Given the description of an element on the screen output the (x, y) to click on. 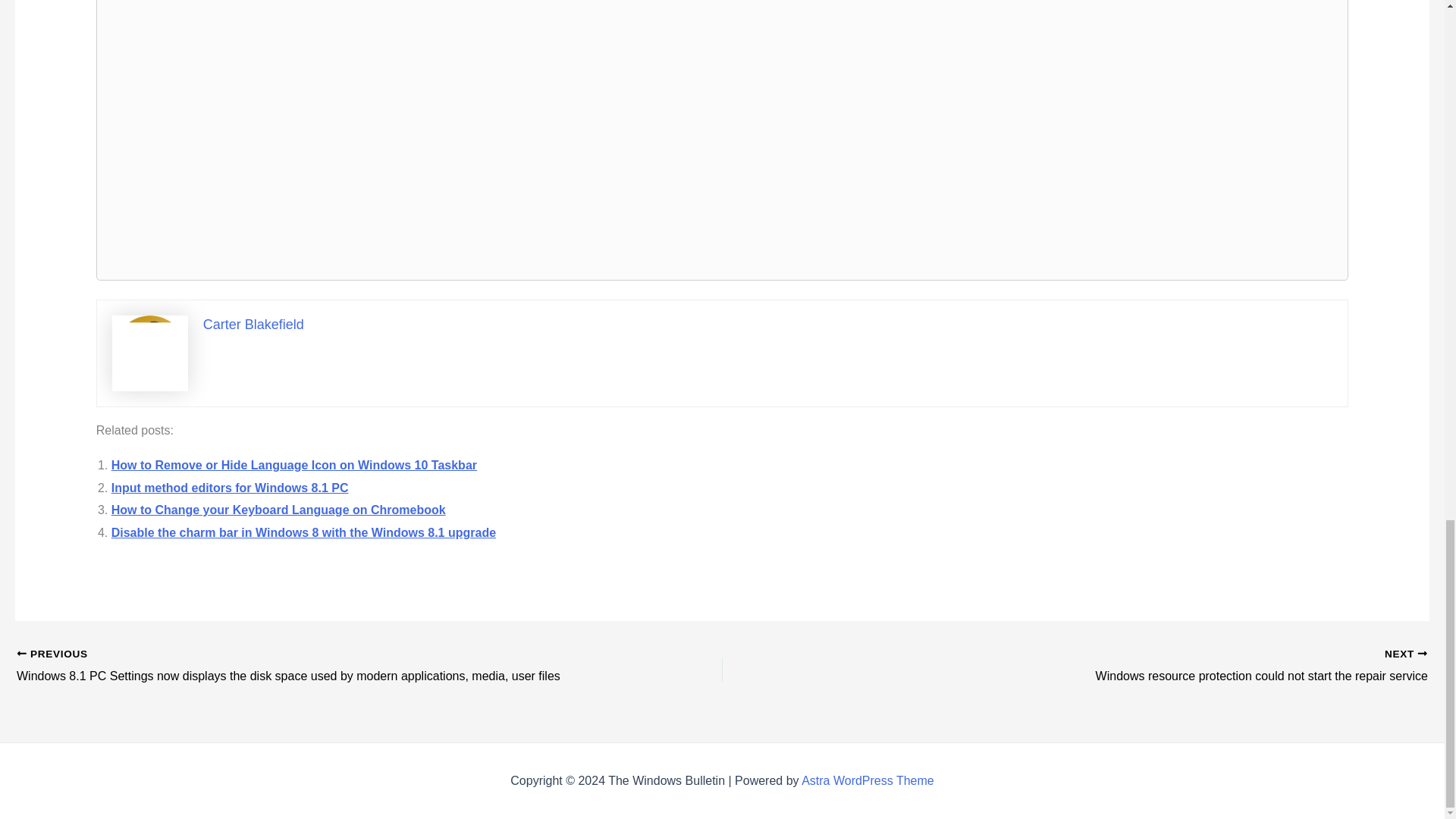
How to Change your Keyboard Language on Chromebook (278, 509)
Carter Blakefield (253, 324)
How to Remove or Hide Language Icon on Windows 10 Taskbar (294, 464)
Astra WordPress Theme (868, 780)
Input method editors for Windows 8.1 PC (230, 487)
How to Change your Keyboard Language on Chromebook (278, 509)
Input method editors for Windows 8.1 PC (230, 487)
How to Remove or Hide Language Icon on Windows 10 Taskbar (294, 464)
